Given the description of an element on the screen output the (x, y) to click on. 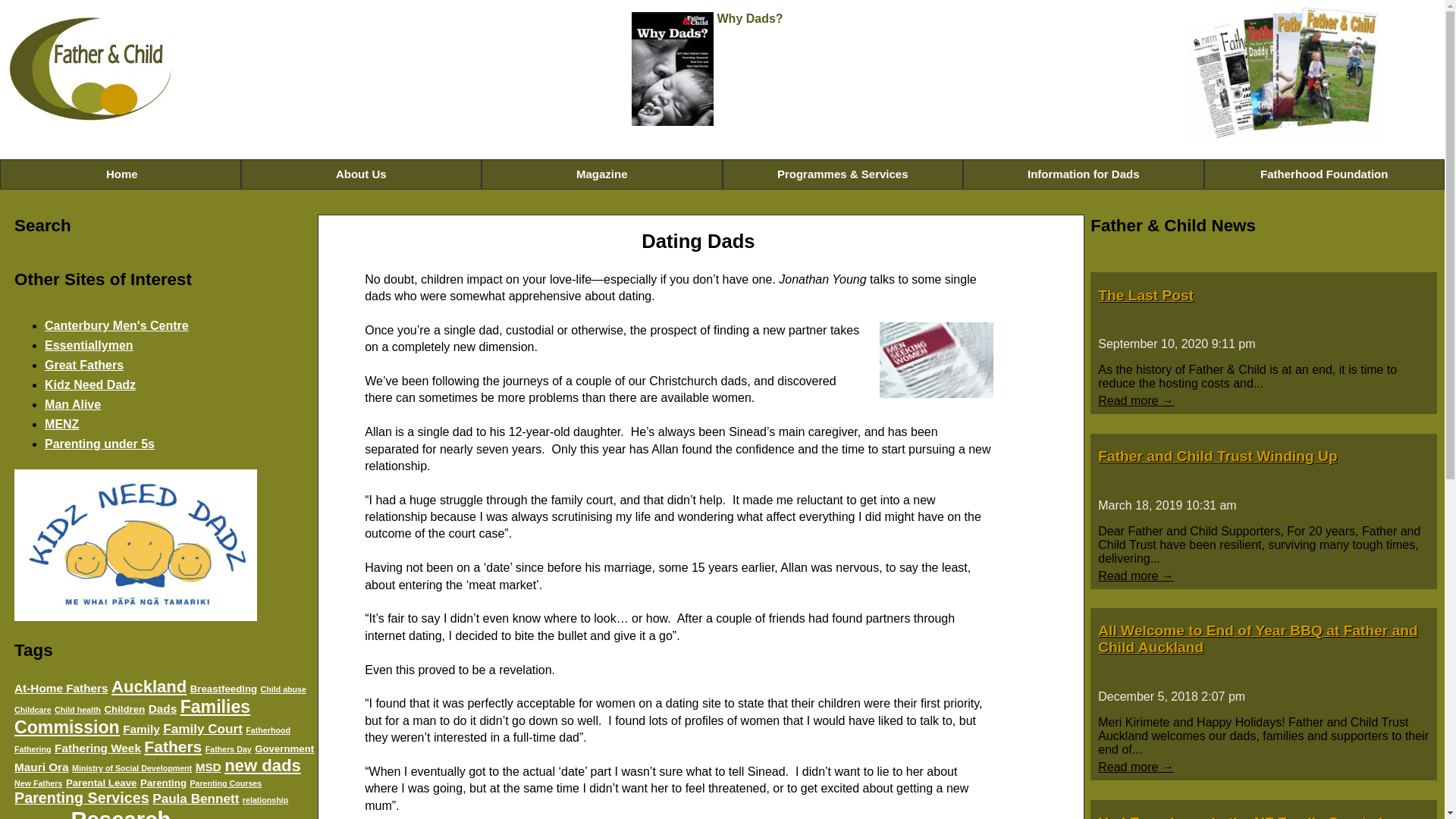
Parenting under 5s (99, 443)
 Home (120, 173)
Man Alive (72, 404)
Breastfeeding (223, 688)
Great resources (99, 443)
Child abuse (282, 688)
Essentiallymen (89, 345)
Dating Dads (935, 360)
Information for Dads (1083, 173)
MENZ (61, 423)
About Us (361, 173)
Auckland (149, 686)
Magazines (1282, 75)
Canterbury Men's Centre (117, 325)
Magazine (601, 173)
